Given the description of an element on the screen output the (x, y) to click on. 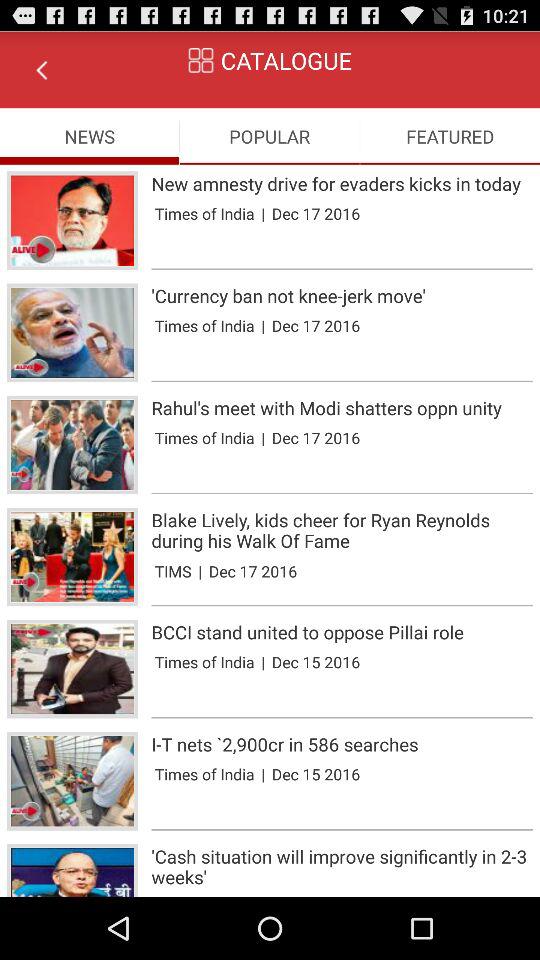
scroll to new amnesty drive (342, 183)
